Given the description of an element on the screen output the (x, y) to click on. 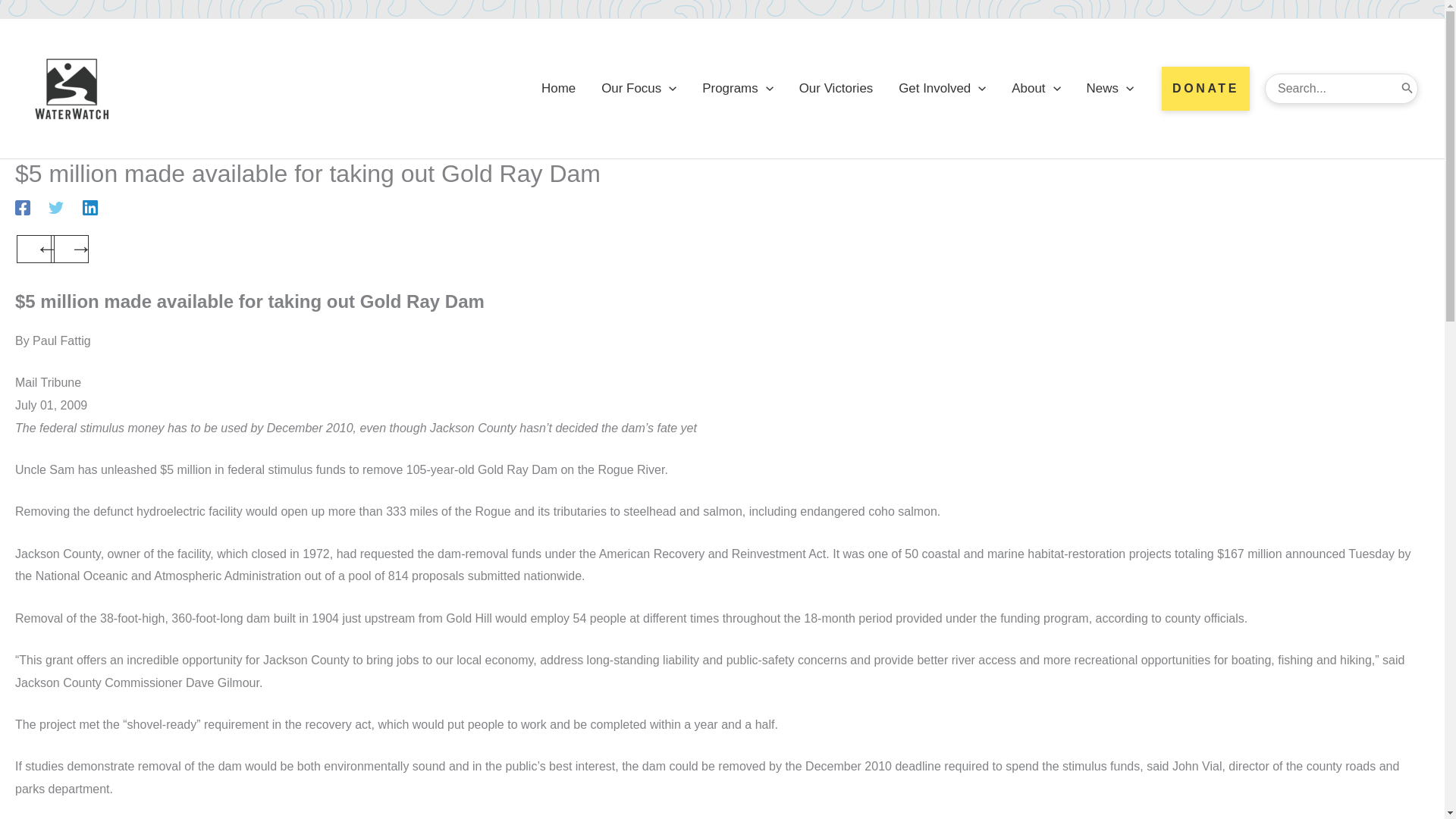
About (1035, 88)
Our Focus (638, 88)
Riffles: Saving the Klamath Basin Ecosystem (69, 248)
Get Involved (941, 88)
Home (558, 88)
Programs (737, 88)
Stimulus money to fund possible Gold Ray Dam removal (35, 248)
Our Victories (835, 88)
